Given the description of an element on the screen output the (x, y) to click on. 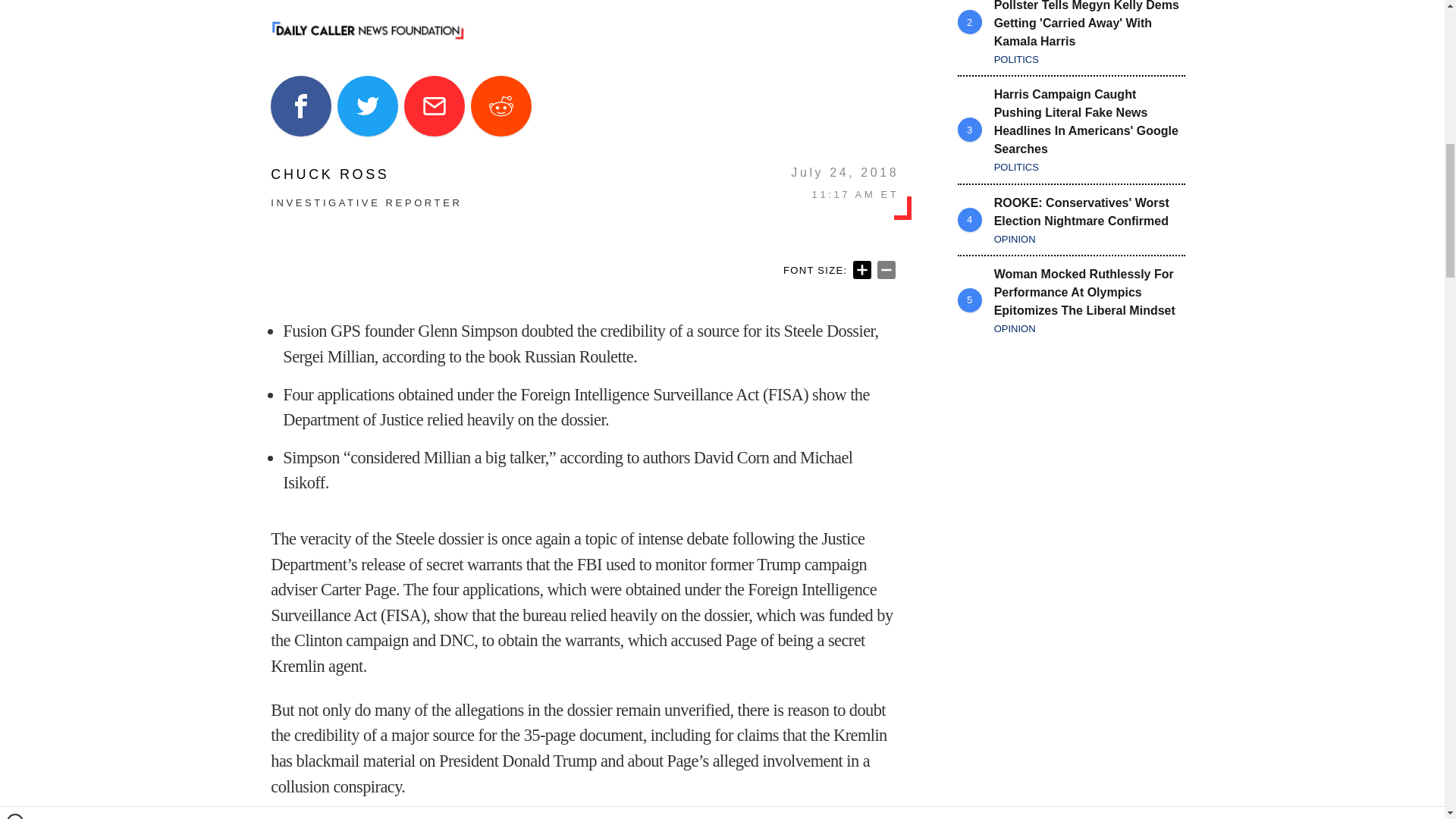
View More Articles By Chuck Ross (365, 174)
Close window (14, 6)
CHUCK ROSS (365, 174)
